Given the description of an element on the screen output the (x, y) to click on. 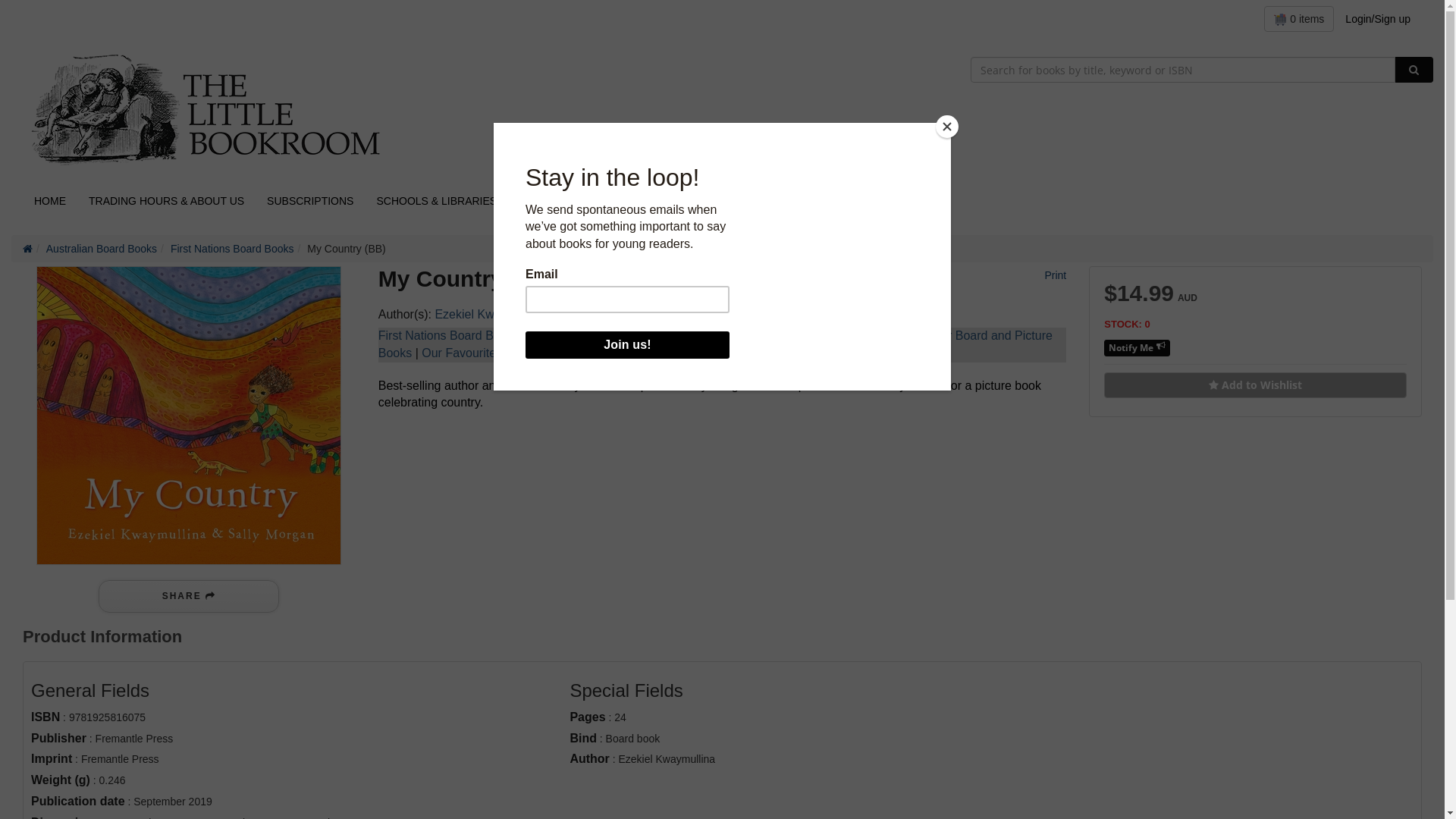
Add to Wishlist Element type: text (1255, 385)
My Country (BB) Element type: hover (188, 415)
Notify Me Element type: text (1137, 347)
Ezekiel Kwaymullina Element type: text (489, 313)
First Nations Board Books Element type: text (232, 248)
Login/Sign up Element type: text (1377, 18)
HOME Element type: text (49, 200)
Our Favourite Board Books Element type: text (494, 352)
CARDS Element type: text (797, 200)
Australian Board Books Element type: text (101, 248)
TRADING HOURS & ABOUT US Element type: text (166, 200)
0 items Element type: text (1298, 18)
 Print Element type: text (1053, 275)
CATEGORIES & BOOK LISTS Element type: text (591, 200)
People of Colour and Global Indigenous Voices Element type: text (777, 335)
GIFT VOUCHERS Element type: text (882, 200)
First Nations Board Books Element type: text (448, 335)
SHARE Element type: text (188, 596)
SUBSCRIPTIONS Element type: text (309, 200)
0 items Element type: text (1298, 18)
Toddler Board and Picture Books Element type: text (715, 344)
SCHOOLS & LIBRARIES Element type: text (436, 200)
BOOK CLUBS Element type: text (721, 200)
First Nations Stories Element type: text (583, 335)
